Given the description of an element on the screen output the (x, y) to click on. 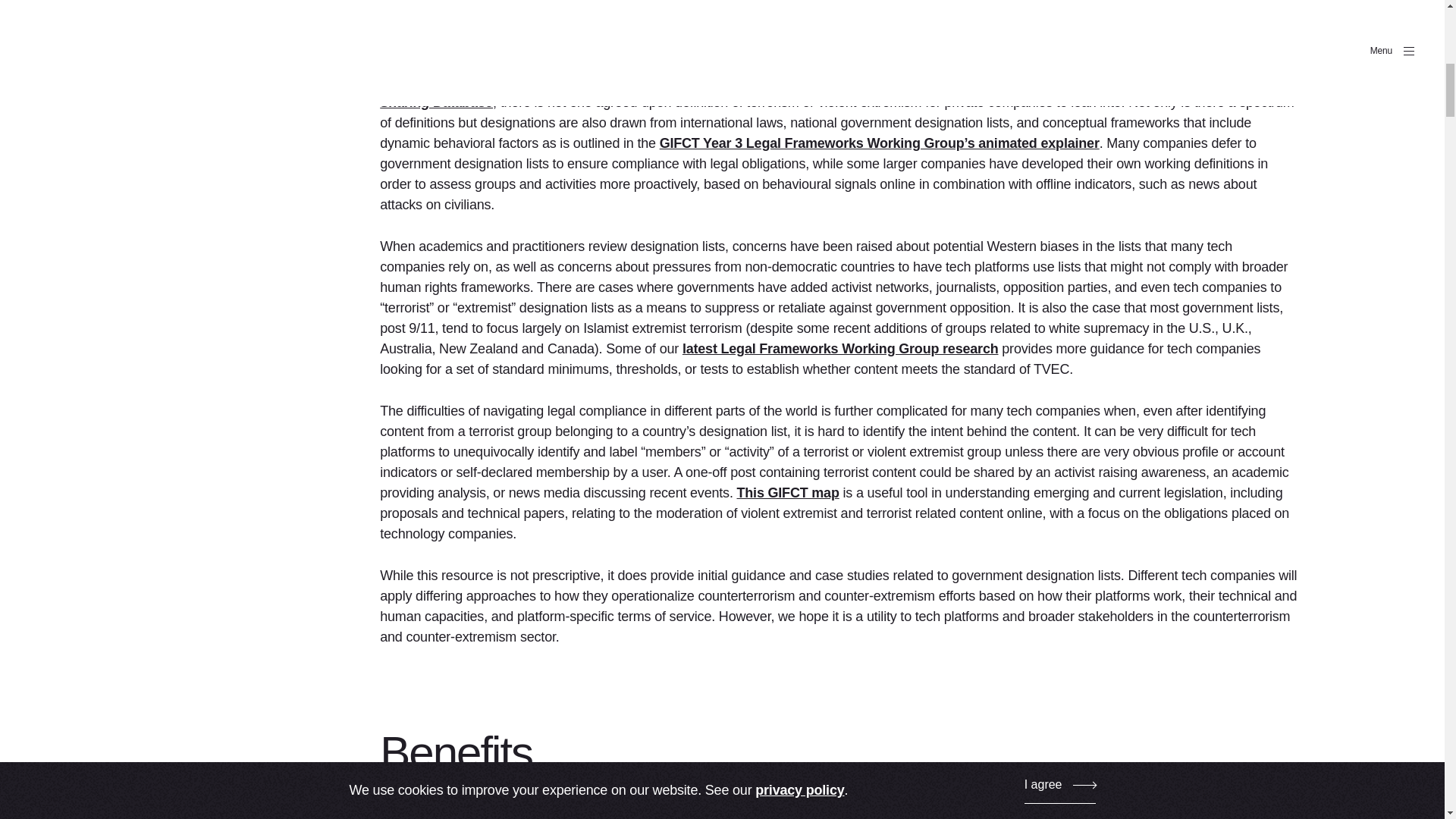
This GIFCT map (788, 492)
report on Broadening the GIFCT Hash Sharing Database (818, 91)
latest Legal Frameworks Working Group research (840, 348)
